Given the description of an element on the screen output the (x, y) to click on. 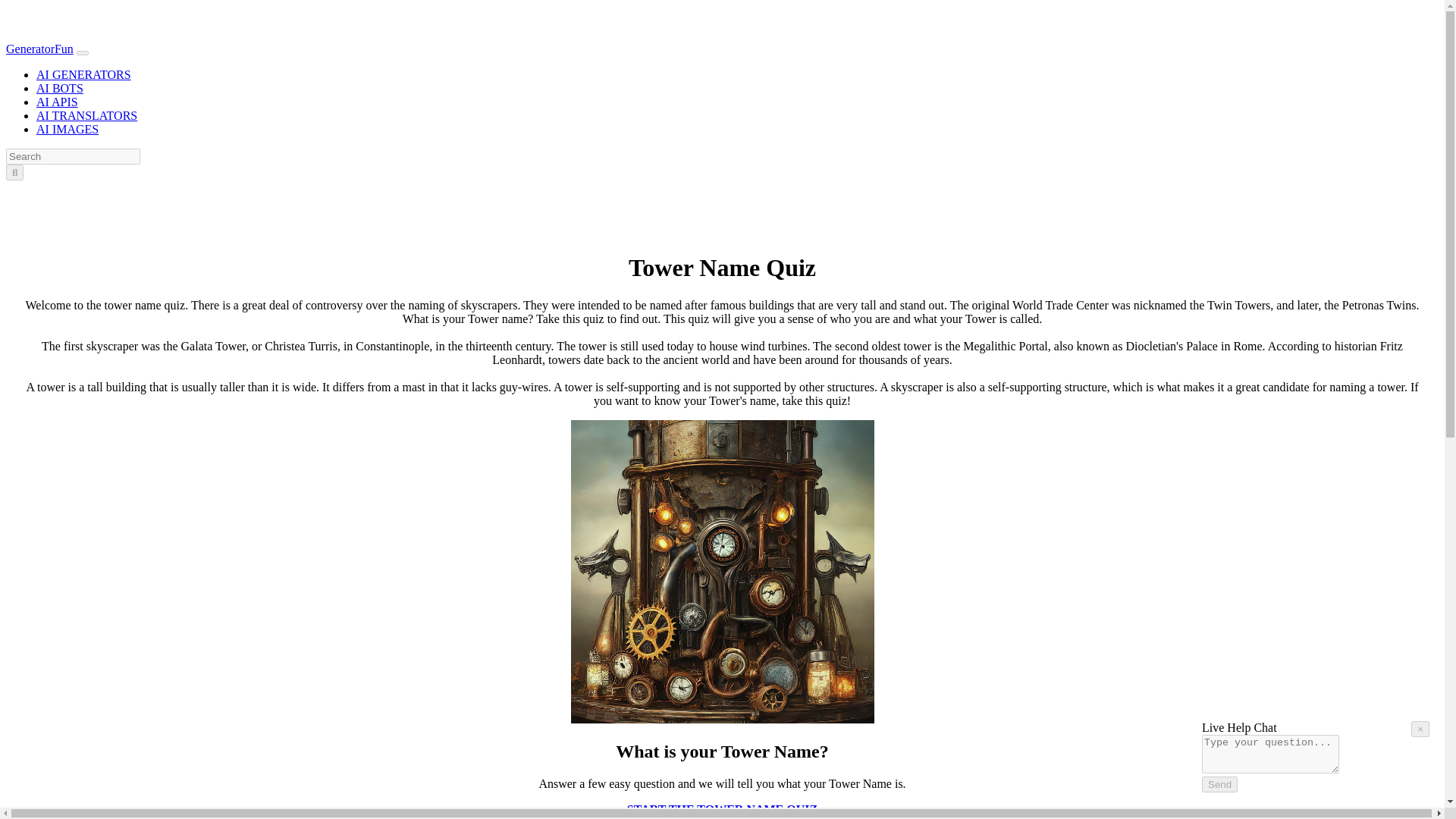
AI IMAGES (67, 128)
Login (61, 190)
AI TRANSLATORS (86, 115)
Send (1219, 784)
AI BOTS (59, 88)
AI APIS (57, 101)
AI GENERATORS (83, 74)
 Help  (1408, 778)
Join (90, 190)
START THE TOWER NAME QUIZ (722, 808)
